Given the description of an element on the screen output the (x, y) to click on. 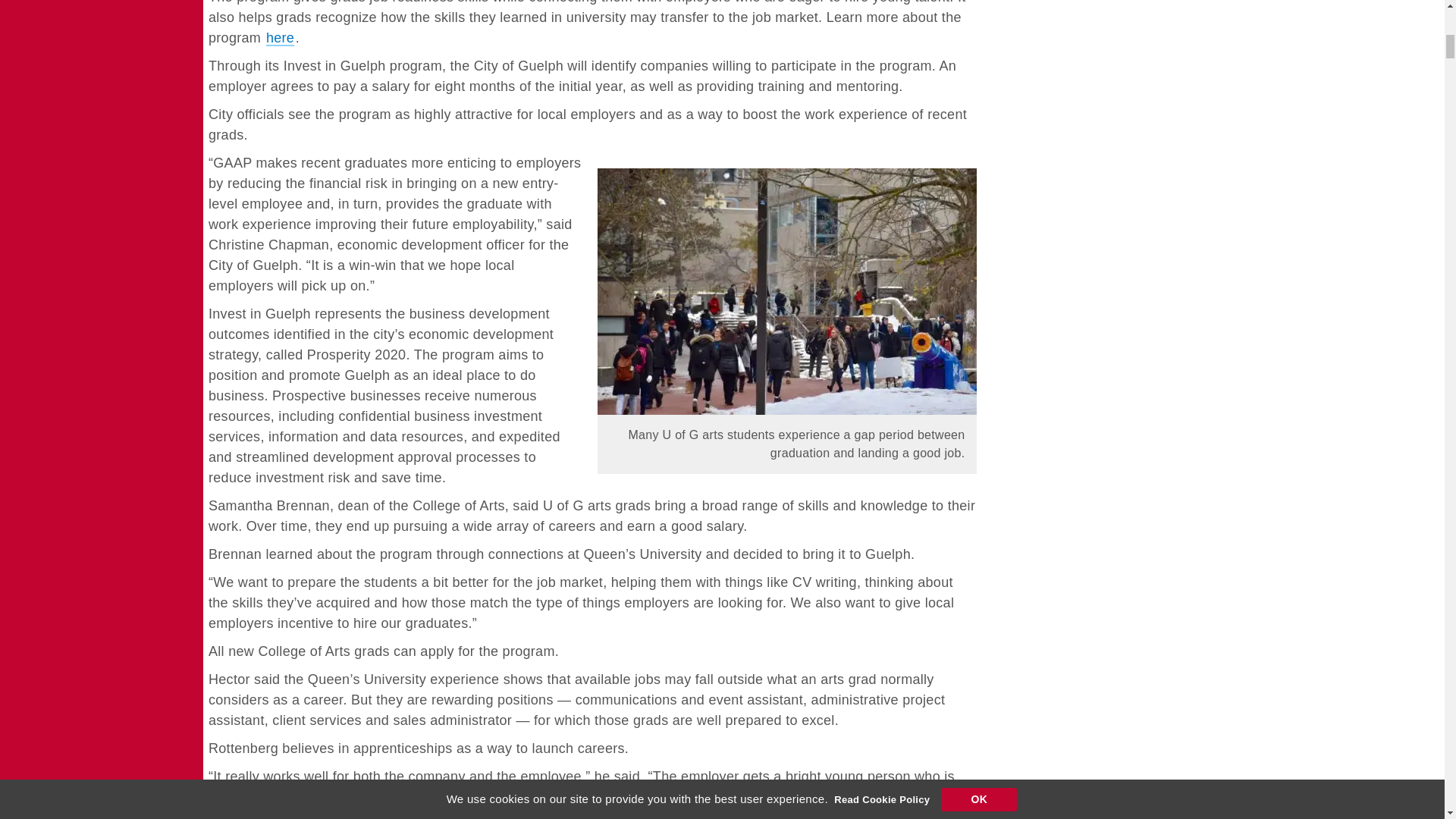
here (279, 37)
